Given the description of an element on the screen output the (x, y) to click on. 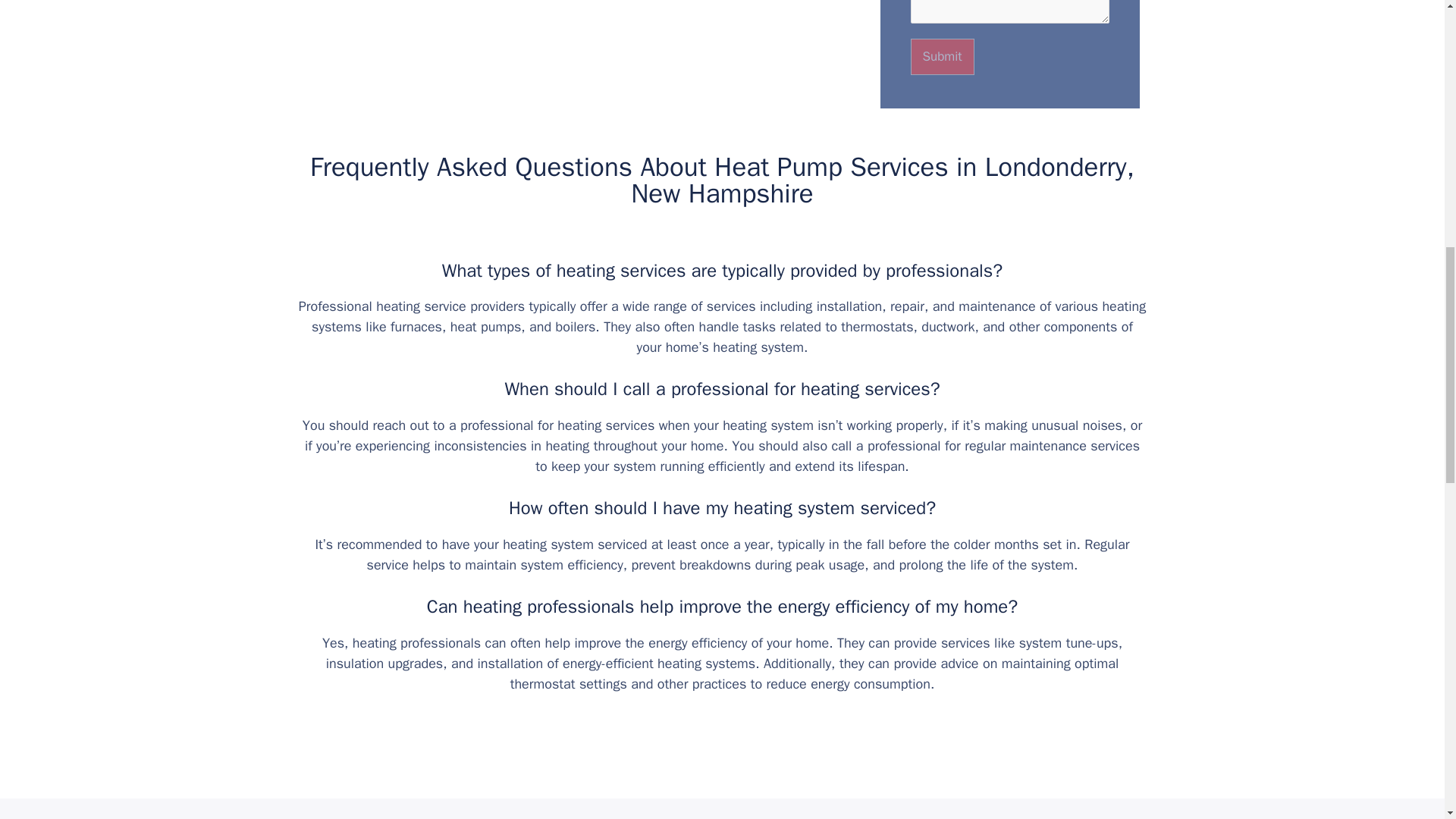
Submit (942, 56)
